Given the description of an element on the screen output the (x, y) to click on. 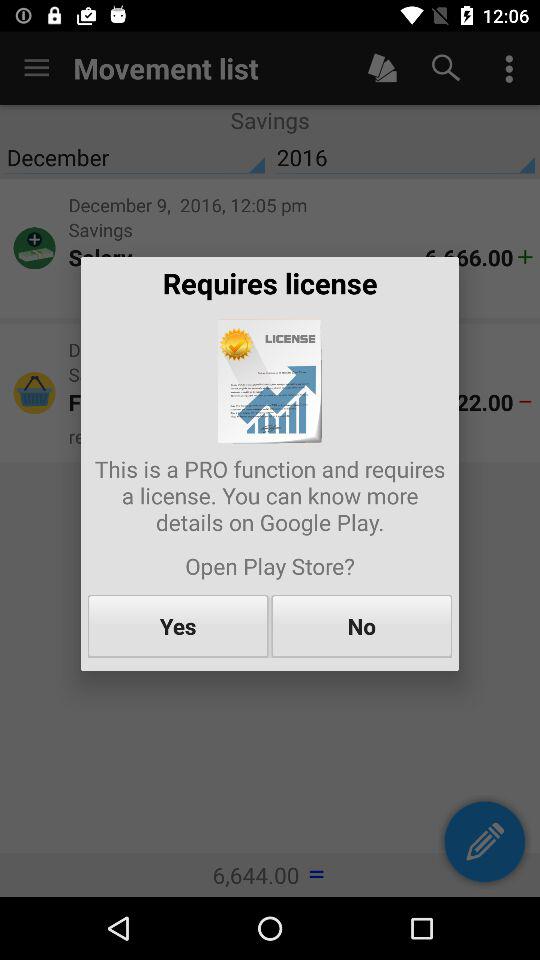
select the icon below the open play store? (177, 625)
